Given the description of an element on the screen output the (x, y) to click on. 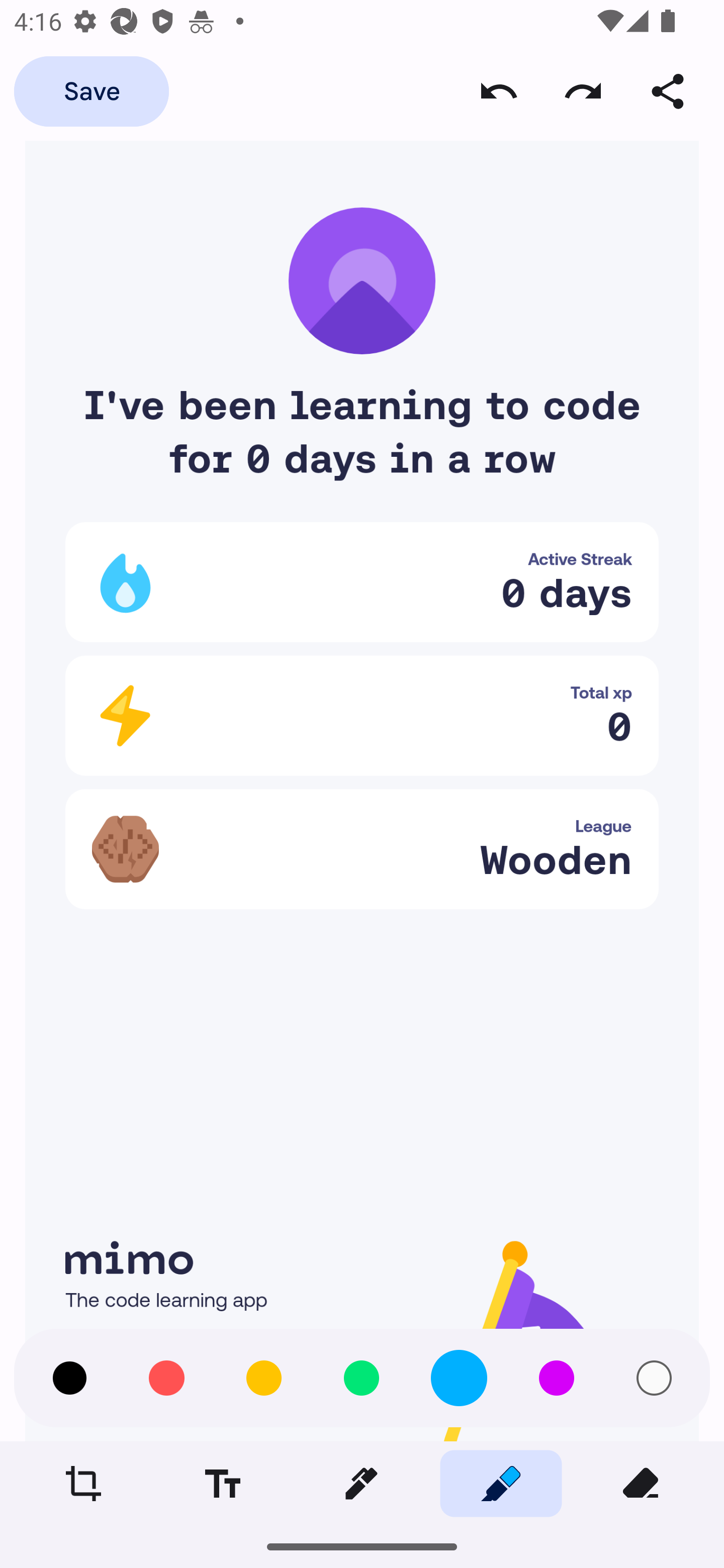
Save (90, 90)
Undo (498, 90)
Redo (582, 90)
Share (667, 90)
Black (69, 1377)
Red (166, 1377)
Yellow (263, 1377)
Green (361, 1377)
Purple (556, 1377)
White (654, 1377)
Crop (82, 1482)
Text (221, 1482)
Pen (361, 1482)
Eraser (640, 1482)
